Given the description of an element on the screen output the (x, y) to click on. 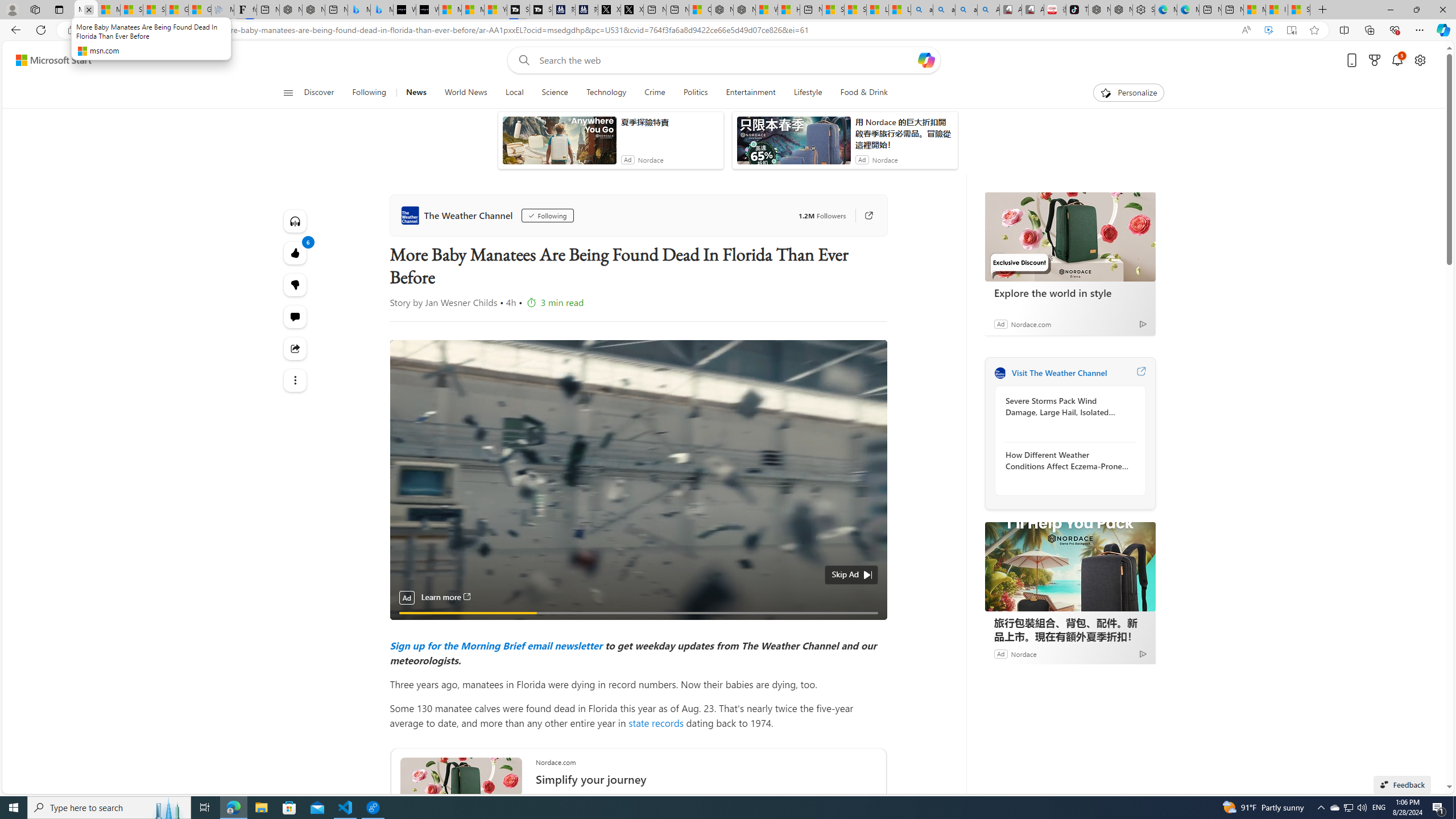
Dislike (295, 284)
Amazon Echo Robot - Search Images (988, 9)
anim-content (793, 144)
News (416, 92)
Microsoft Bing Travel - Stays in Bangkok, Bangkok, Thailand (359, 9)
Learn more (446, 597)
See more (295, 380)
I Gained 20 Pounds of Muscle in 30 Days! | Watch (1276, 9)
Food & Drink (859, 92)
Unmute (871, 626)
